Given the description of an element on the screen output the (x, y) to click on. 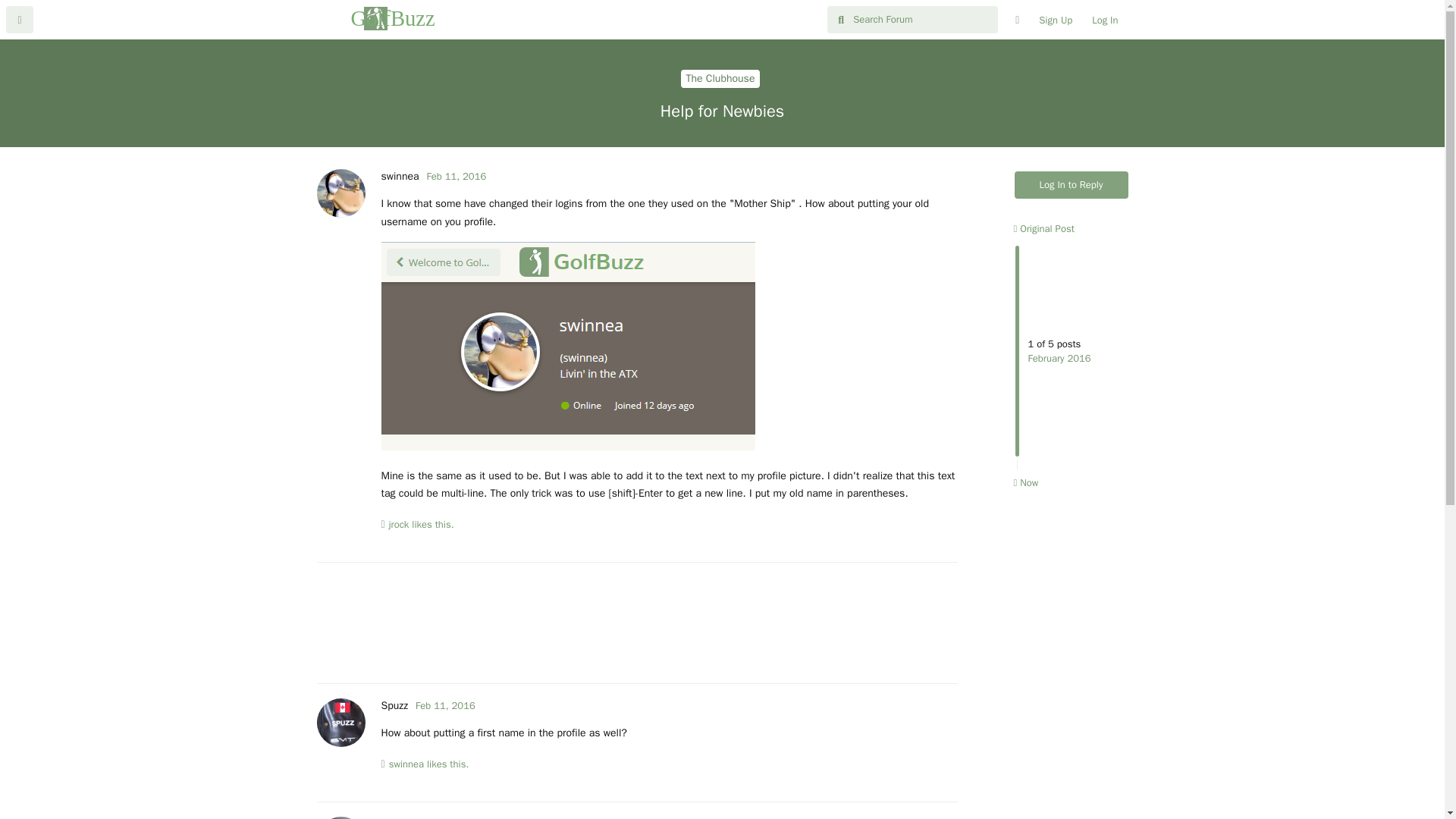
Now (1025, 481)
The Clubhouse (720, 78)
GolfBuzz (376, 18)
swinnea (405, 764)
Thursday, February 11, 2016 12:56 AM (456, 818)
jrock (398, 524)
swinnea (399, 818)
Spuzz (393, 705)
Advertisement (637, 622)
swinnea (399, 175)
